Given the description of an element on the screen output the (x, y) to click on. 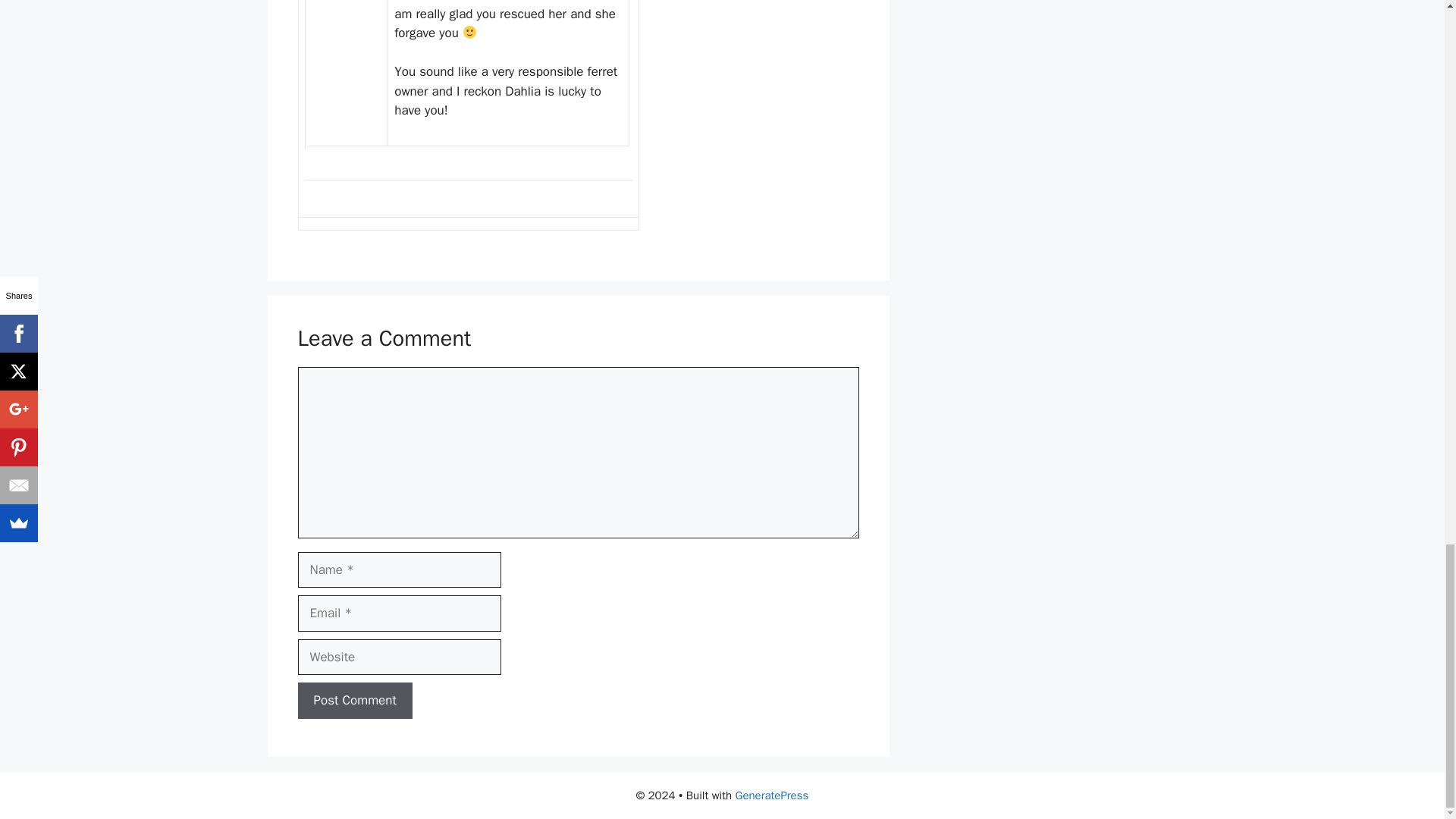
GeneratePress (772, 795)
Post Comment (354, 700)
Post Comment (354, 700)
